Given the description of an element on the screen output the (x, y) to click on. 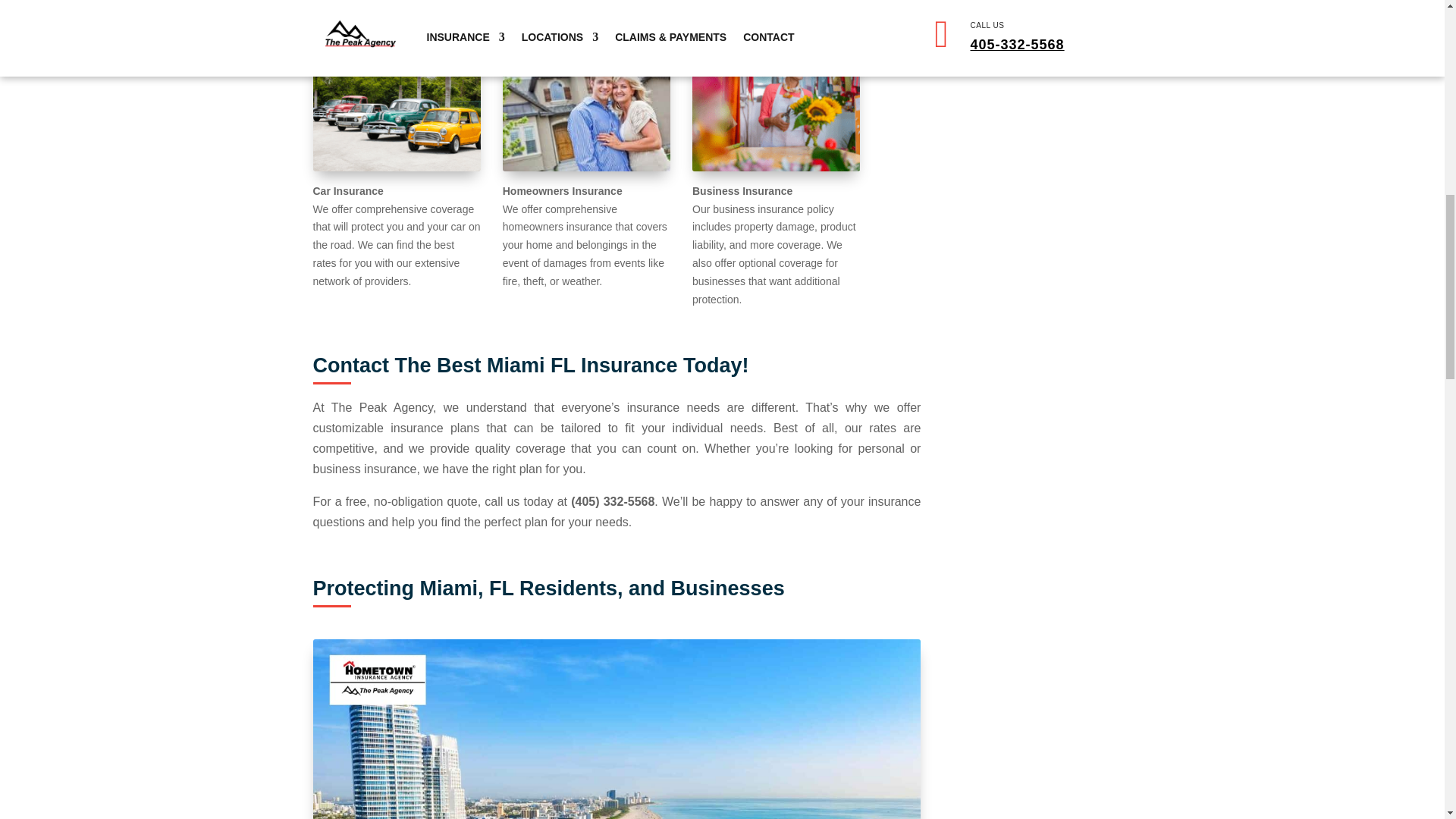
Homeowners Insurance - The Peak Agency (585, 103)
Auto Insurance - The Peak Agency (396, 103)
Great Insurance Coverage in Miami, FL - The Peak Agency (616, 729)
Home Insurance - The Peak Agency (776, 103)
